Given the description of an element on the screen output the (x, y) to click on. 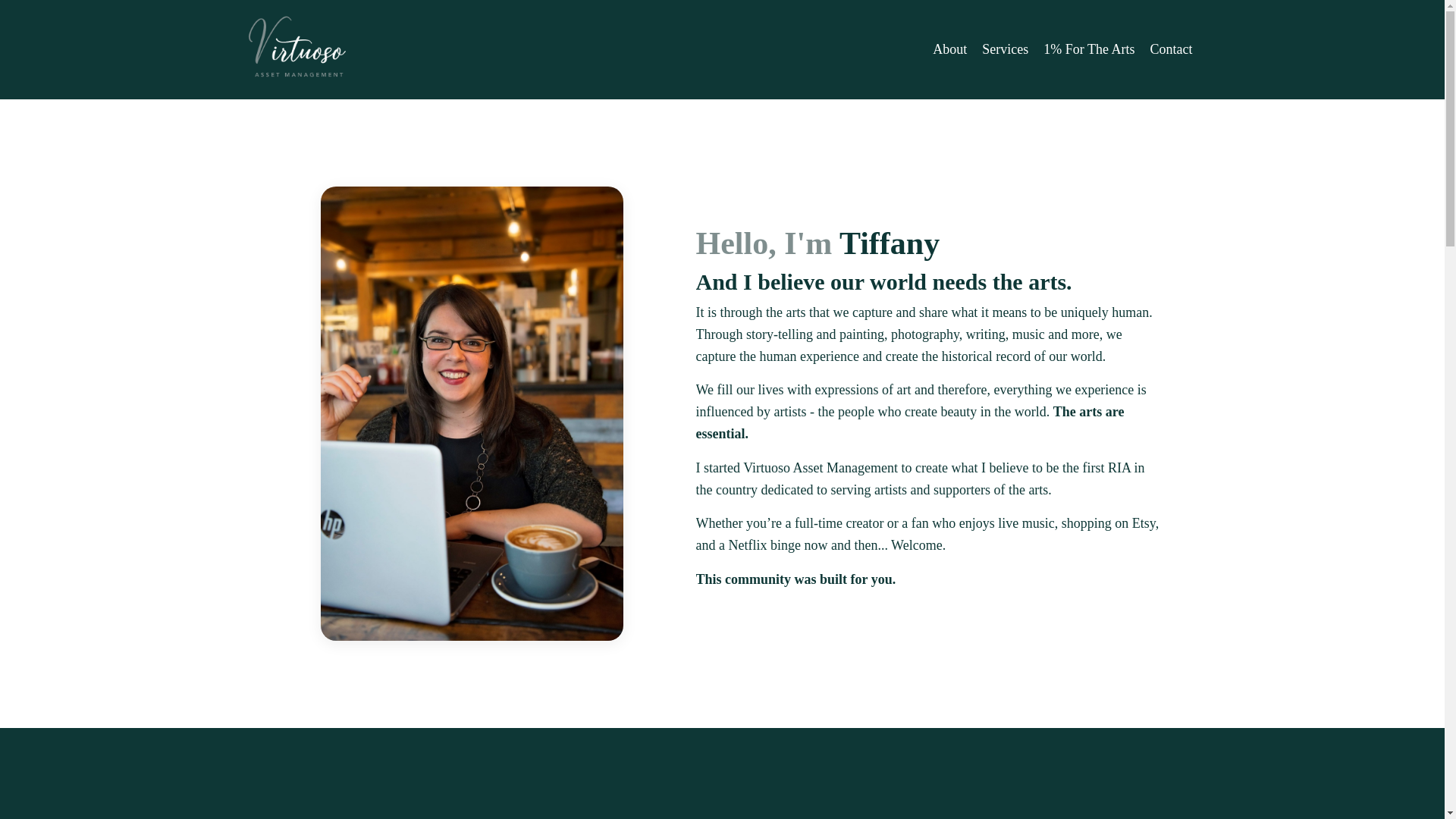
Contact (1171, 49)
Services (1004, 49)
About (949, 49)
